Given the description of an element on the screen output the (x, y) to click on. 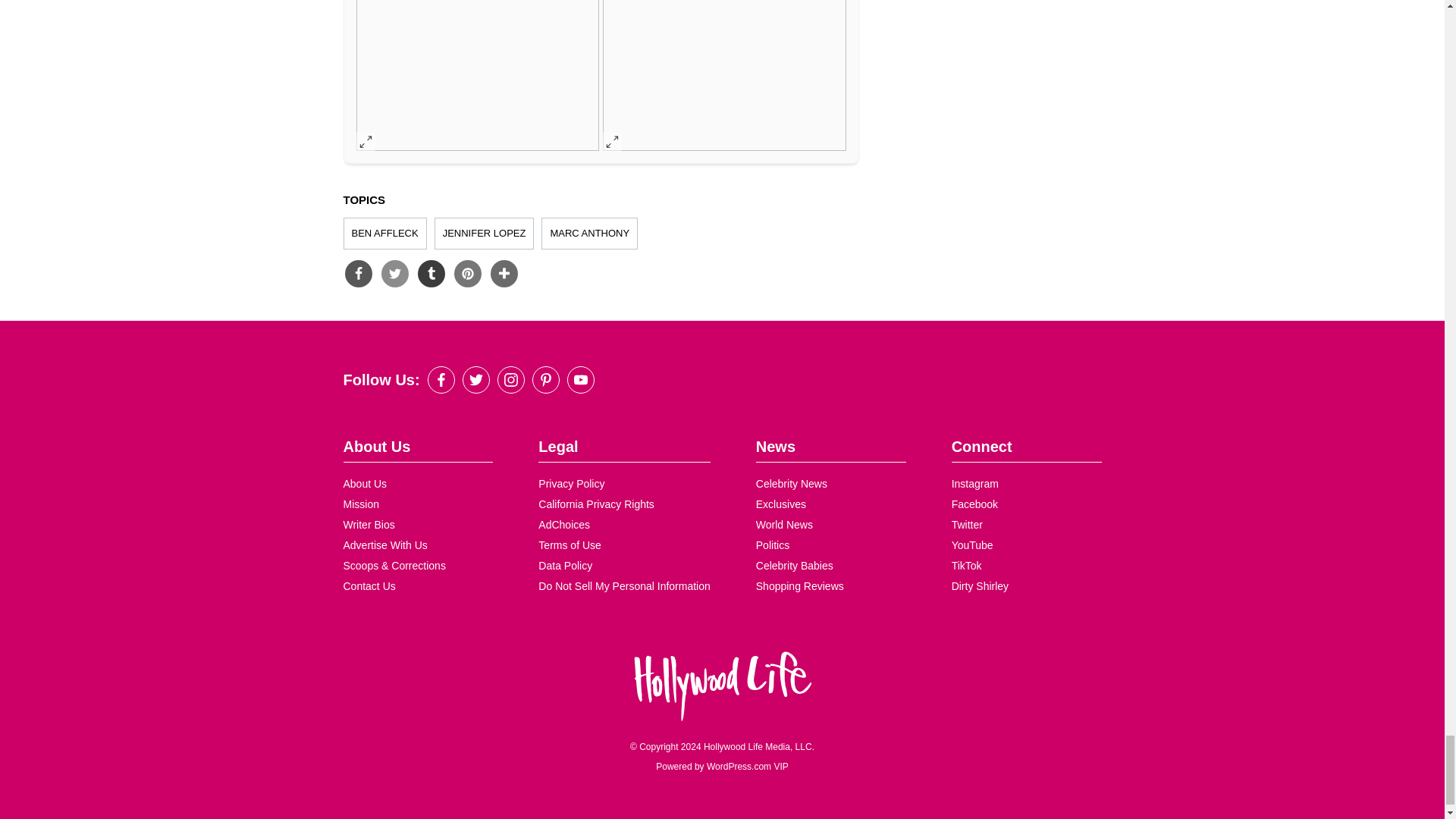
Share on Facebook (357, 273)
Post to Tumblr (430, 273)
Pin it (466, 273)
More Share Options (502, 273)
Tweet (393, 273)
